Given the description of an element on the screen output the (x, y) to click on. 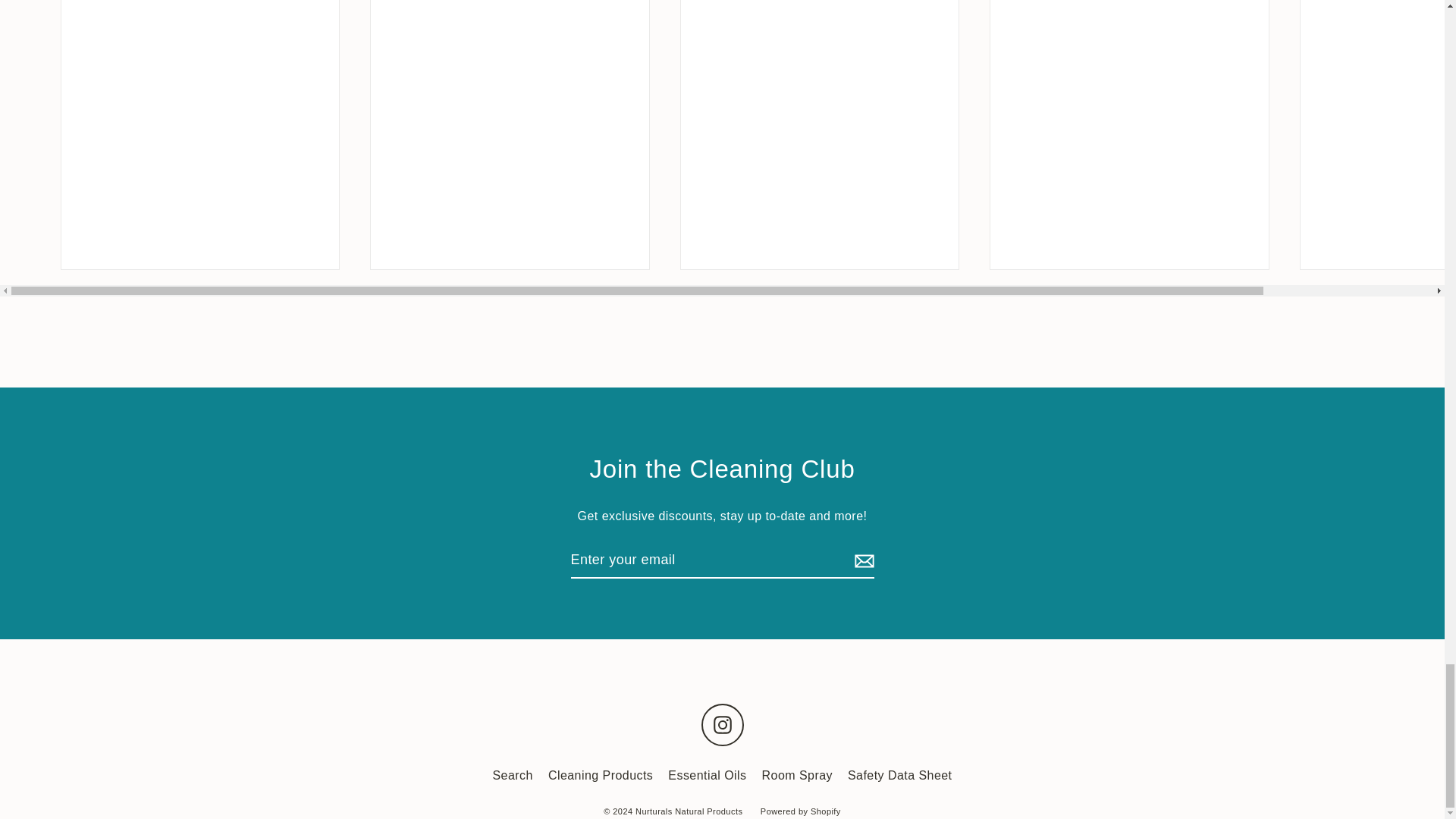
Instagram (721, 724)
Nurturals Natural Products on Instagram (721, 724)
Search (512, 775)
Subscribe (860, 560)
